Given the description of an element on the screen output the (x, y) to click on. 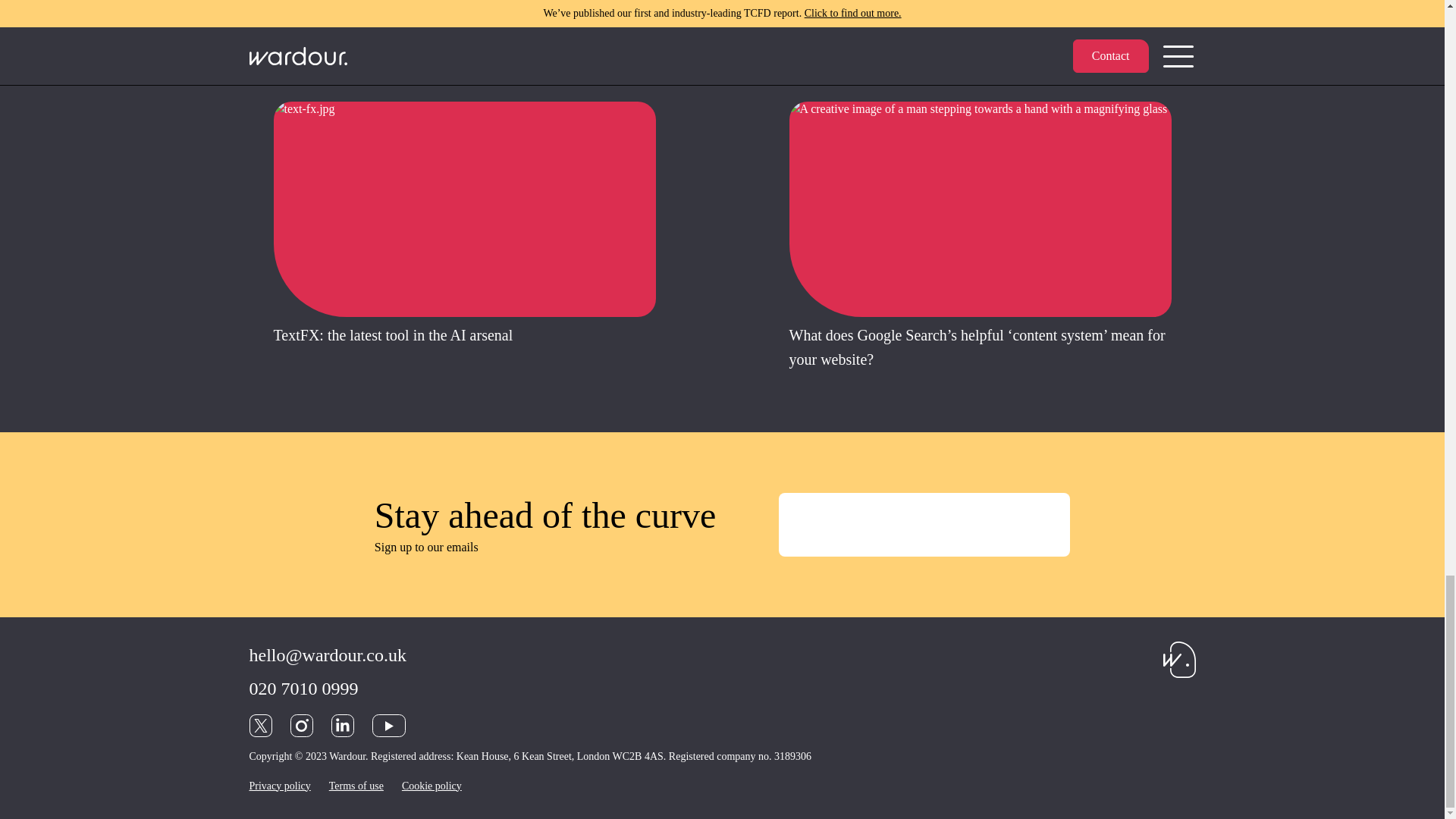
Privacy policy (279, 785)
text-fx.jpg (463, 208)
020 7010 0999 (303, 687)
Cookie policy (431, 785)
TextFX: the latest tool in the AI arsenal (392, 334)
Terms of use (356, 785)
